Given the description of an element on the screen output the (x, y) to click on. 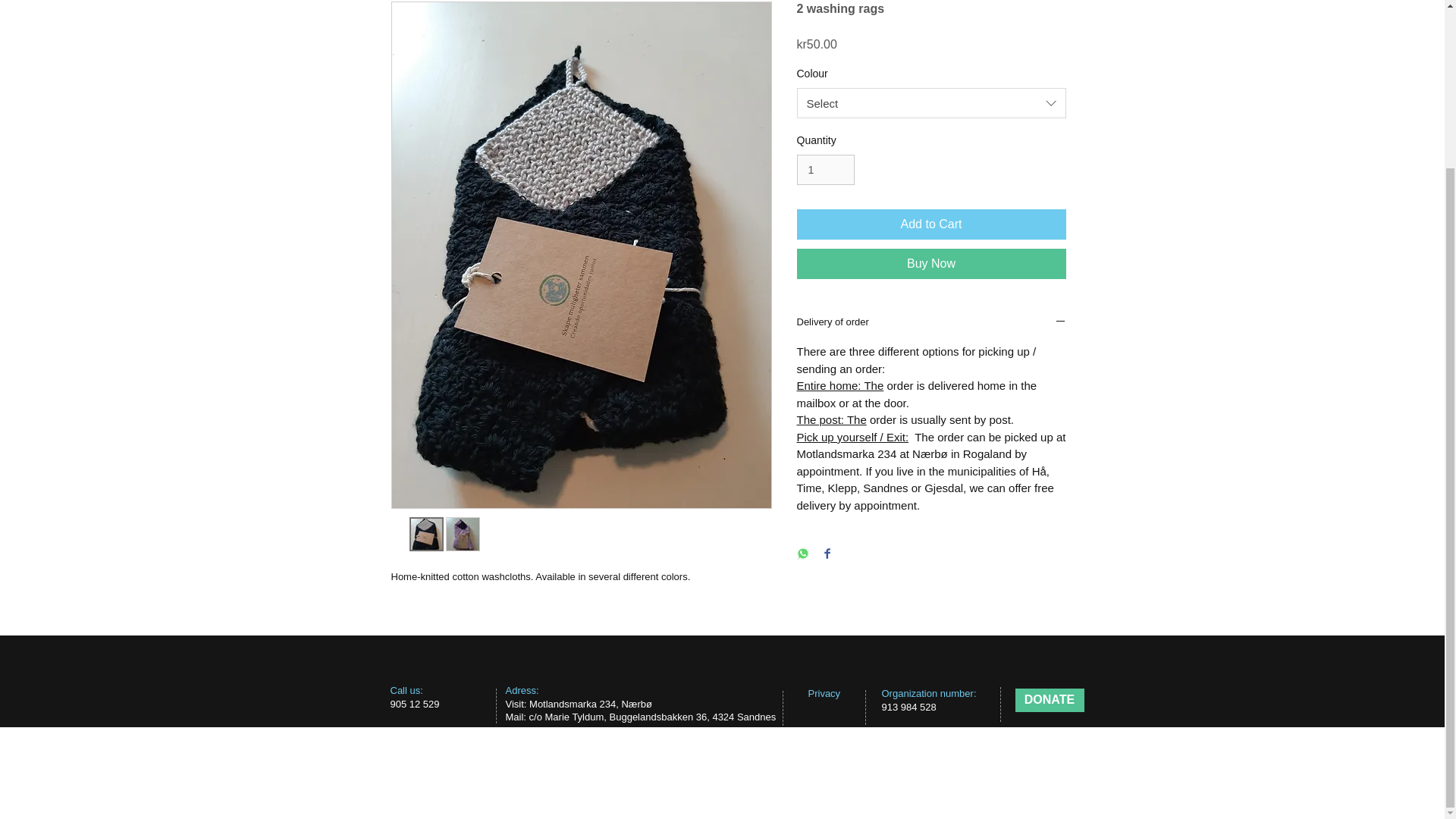
Privacy (824, 693)
Delivery of order (930, 322)
1 (824, 169)
DONATE (1048, 699)
Add to Cart (930, 224)
Select (930, 102)
Buy Now (930, 263)
